Given the description of an element on the screen output the (x, y) to click on. 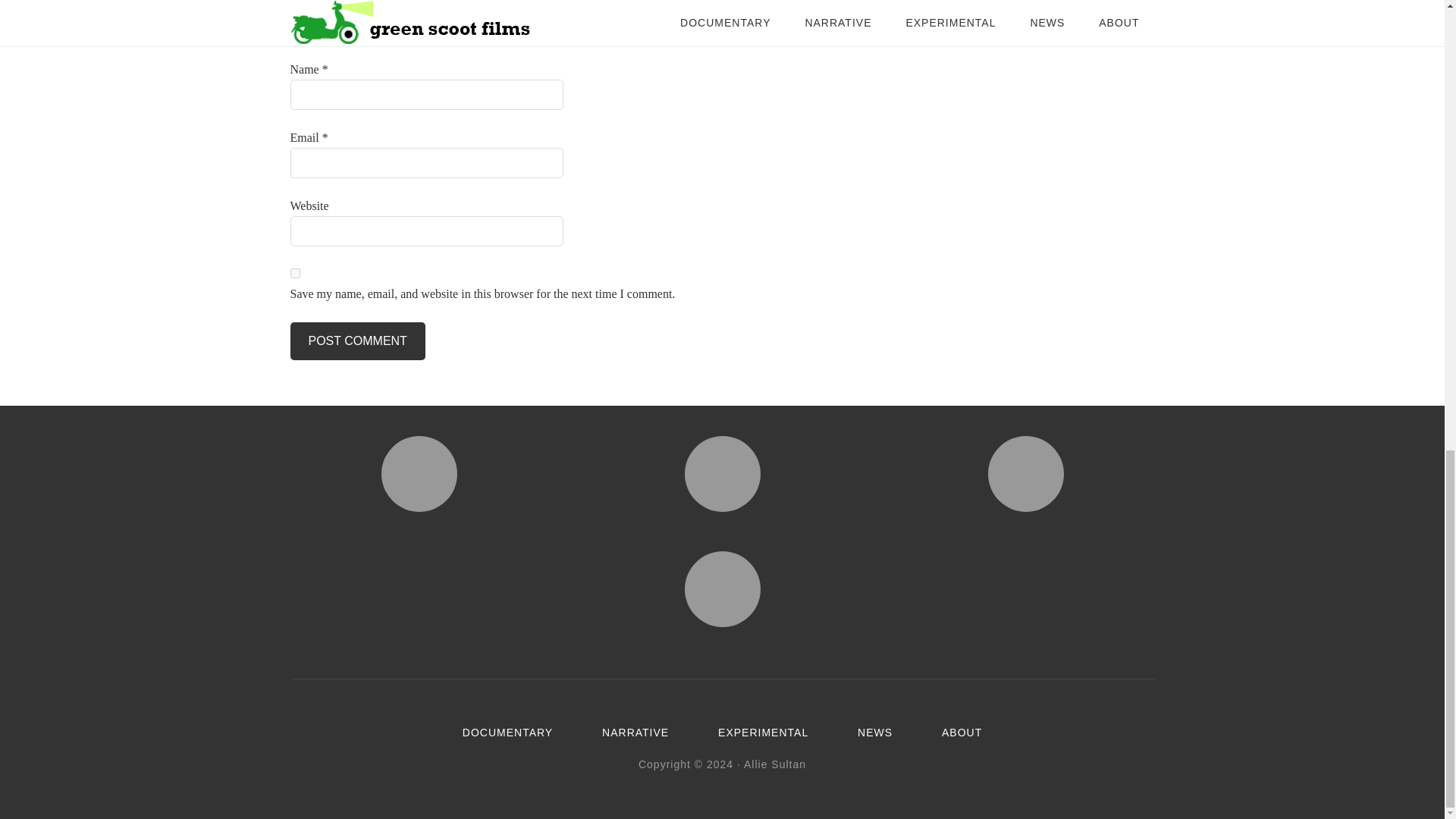
Post Comment (357, 341)
NEWS (874, 732)
Post Comment (357, 341)
EXPERIMENTAL (762, 732)
NARRATIVE (635, 732)
ABOUT (961, 732)
yes (294, 273)
DOCUMENTARY (508, 732)
